Given the description of an element on the screen output the (x, y) to click on. 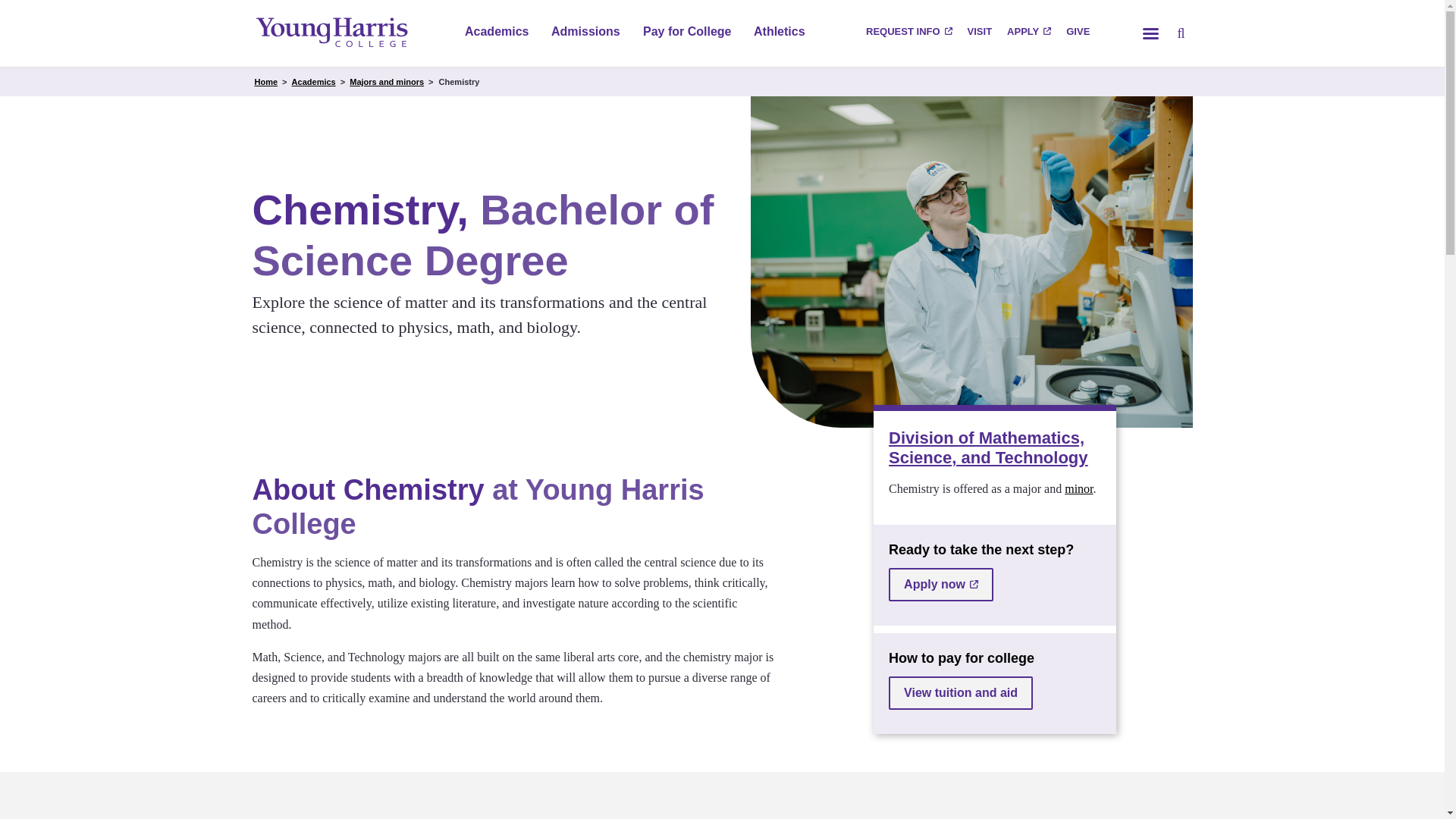
Academics (496, 32)
Search (1180, 33)
Athletics (779, 32)
GIVE (1077, 33)
Menu (1149, 33)
Pay for College (686, 32)
Admissions (585, 32)
VISIT (979, 33)
APPLY (1028, 33)
REQUEST INFO (909, 33)
